Given the description of an element on the screen output the (x, y) to click on. 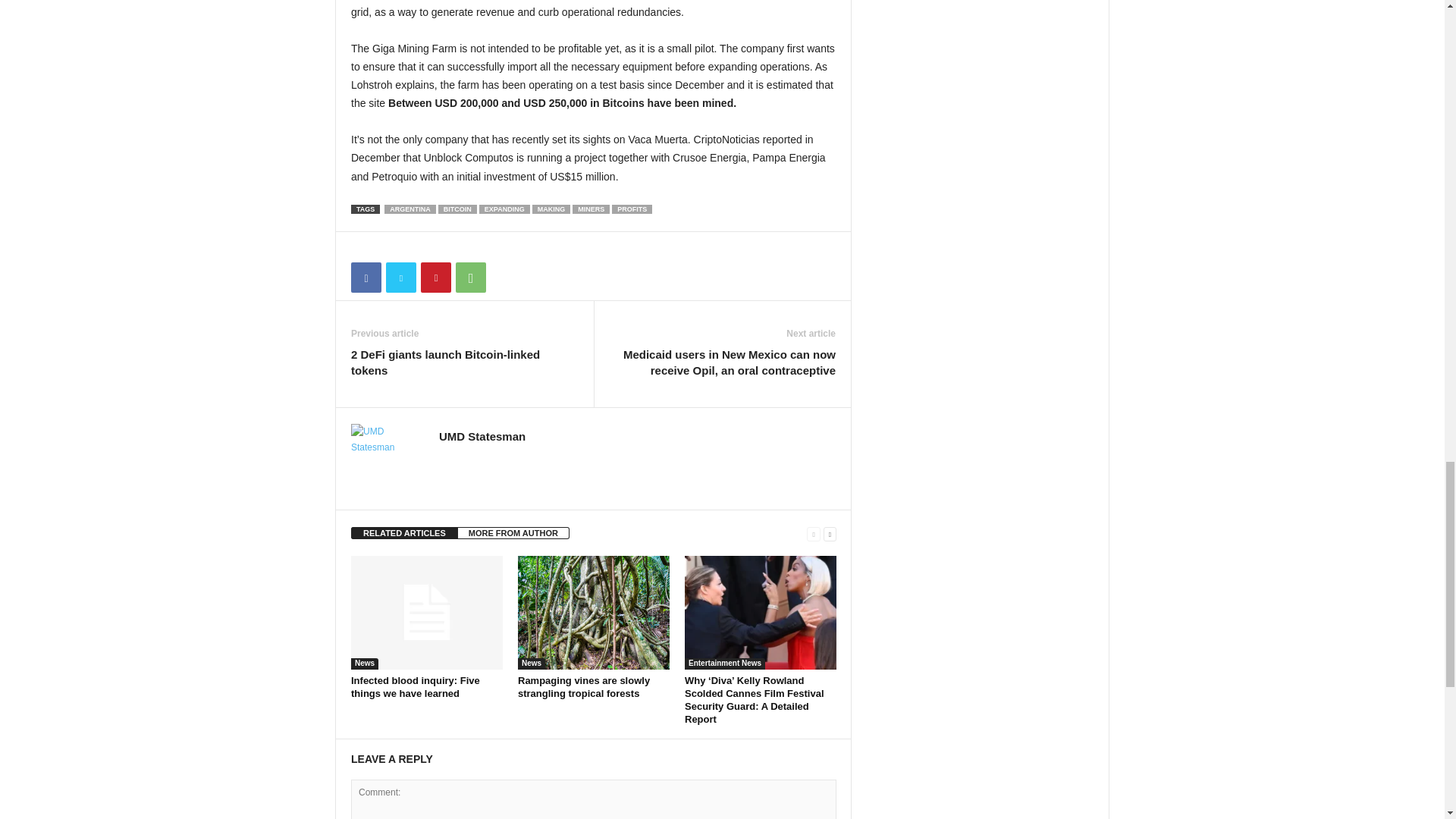
EXPANDING (504, 208)
ARGENTINA (409, 208)
MINERS (591, 208)
BITCOIN (457, 208)
MAKING (551, 208)
PROFITS (631, 208)
